Given the description of an element on the screen output the (x, y) to click on. 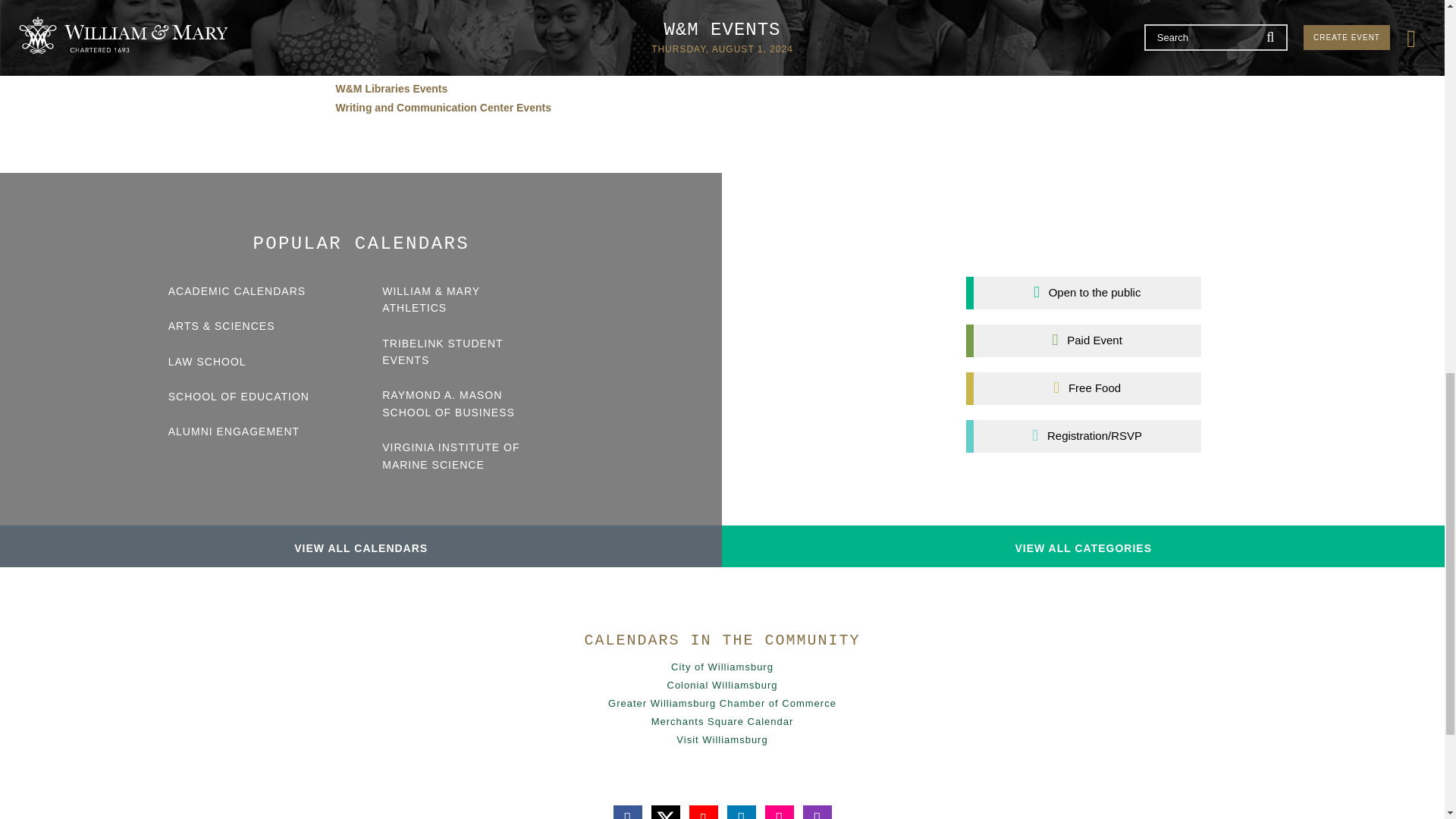
X (664, 812)
Facebook (627, 812)
Instagram (816, 812)
YouTube (702, 812)
Charles Center Events (391, 50)
Writing and Communication Center Events (442, 107)
Biology Events (373, 31)
Sustainability Events (388, 69)
LinkedIn (740, 812)
Flickr (778, 812)
